Given the description of an element on the screen output the (x, y) to click on. 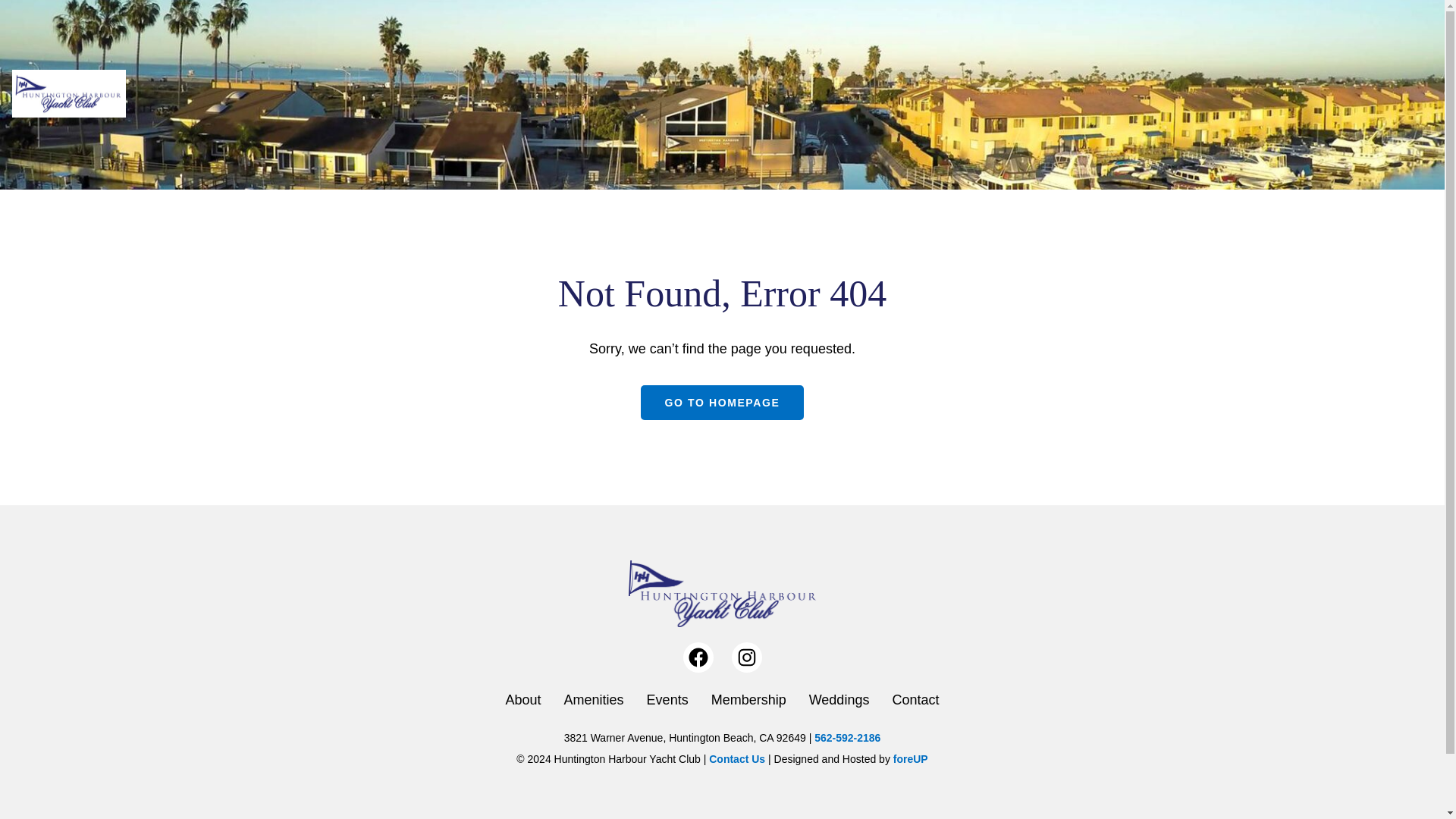
foreUP (910, 758)
Facebook (697, 657)
Contact (915, 699)
Instagram (745, 657)
562-592-2186 (846, 737)
Events (667, 699)
Weddings (839, 699)
Membership (748, 699)
Contact Us (737, 758)
Amenities (594, 699)
GO TO HOMEPAGE (722, 402)
About (523, 699)
